Given the description of an element on the screen output the (x, y) to click on. 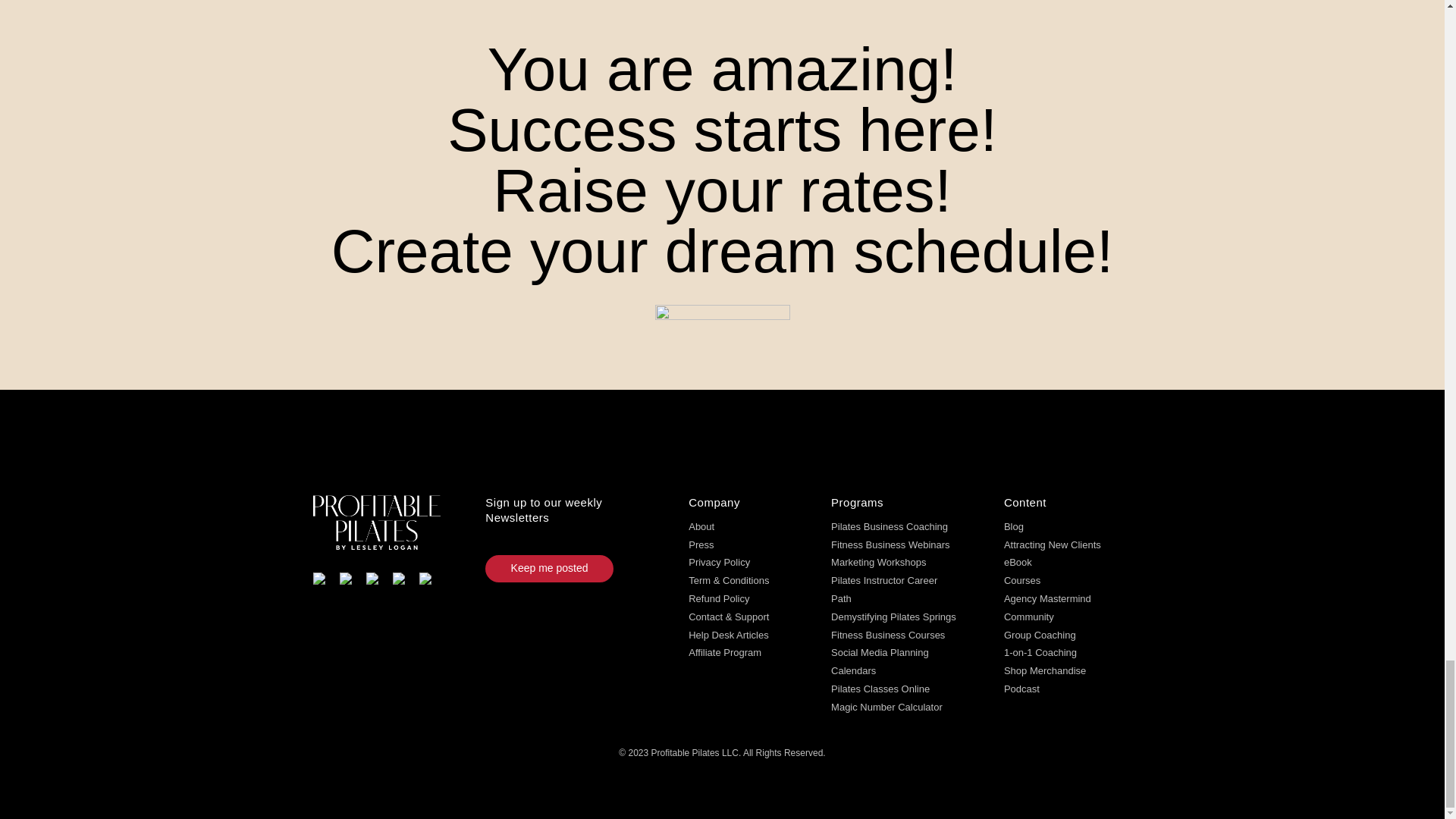
Marketing Workshops (878, 562)
Social Media Planning Calendar (879, 661)
Press (700, 544)
Refund Policy (718, 598)
OnlinePilatesClasses.com (880, 688)
Magic Number Calculator (886, 706)
Group 354 (722, 331)
Privacy Policy (718, 562)
Pilates Instructor Career Path (884, 589)
Pilates Business Coaching (889, 526)
Fitness Business Webinars (890, 544)
Help Desk Articles (728, 634)
Fitness Business Courses (887, 634)
Demystifying Pilates Springs (893, 616)
About (701, 526)
